Given the description of an element on the screen output the (x, y) to click on. 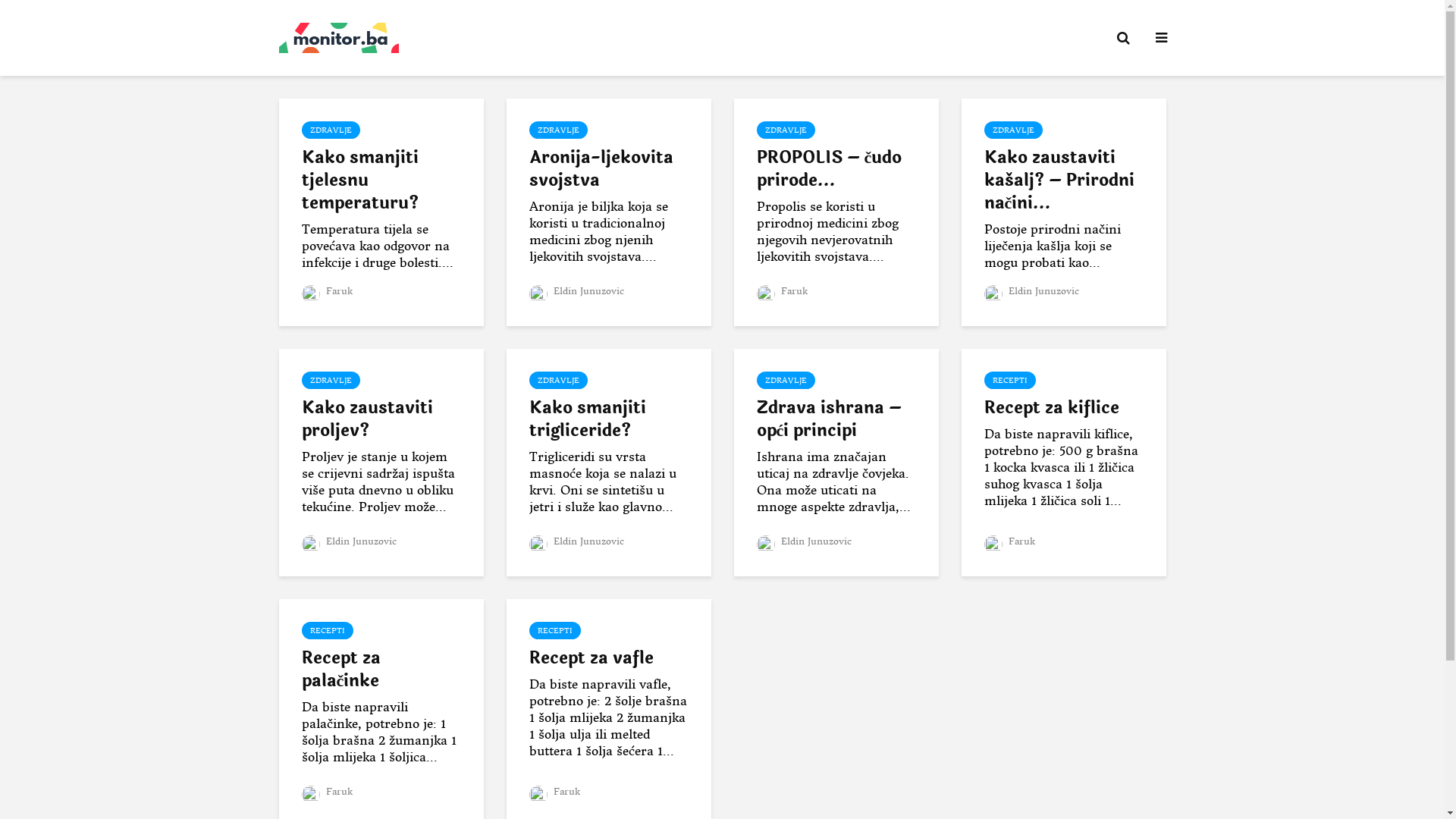
RECEPTI Element type: text (327, 630)
Faruk Element type: text (1009, 540)
Eldin Junuzovic Element type: text (1031, 290)
Kako smanjiti tjelesnu temperaturu? Element type: text (381, 180)
ZDRAVLJE Element type: text (558, 129)
Eldin Junuzovic Element type: text (576, 540)
Eldin Junuzovic Element type: text (803, 540)
Kako smanjiti trigliceride? Element type: text (608, 419)
ZDRAVLJE Element type: text (785, 129)
ZDRAVLJE Element type: text (330, 129)
Kako zaustaviti proljev? Element type: text (381, 419)
Eldin Junuzovic Element type: text (348, 540)
ZDRAVLJE Element type: text (785, 380)
RECEPTI Element type: text (1009, 380)
Recept za vafle Element type: text (608, 657)
Faruk Element type: text (326, 290)
Faruk Element type: text (326, 791)
Eldin Junuzovic Element type: text (576, 290)
RECEPTI Element type: text (554, 630)
ZDRAVLJE Element type: text (330, 380)
Recept za kiflice Element type: text (1063, 407)
Faruk Element type: text (781, 290)
ZDRAVLJE Element type: text (1013, 129)
Aronija-ljekovita svojstva Element type: text (608, 168)
Faruk Element type: text (554, 791)
ZDRAVLJE Element type: text (558, 380)
